Given the description of an element on the screen output the (x, y) to click on. 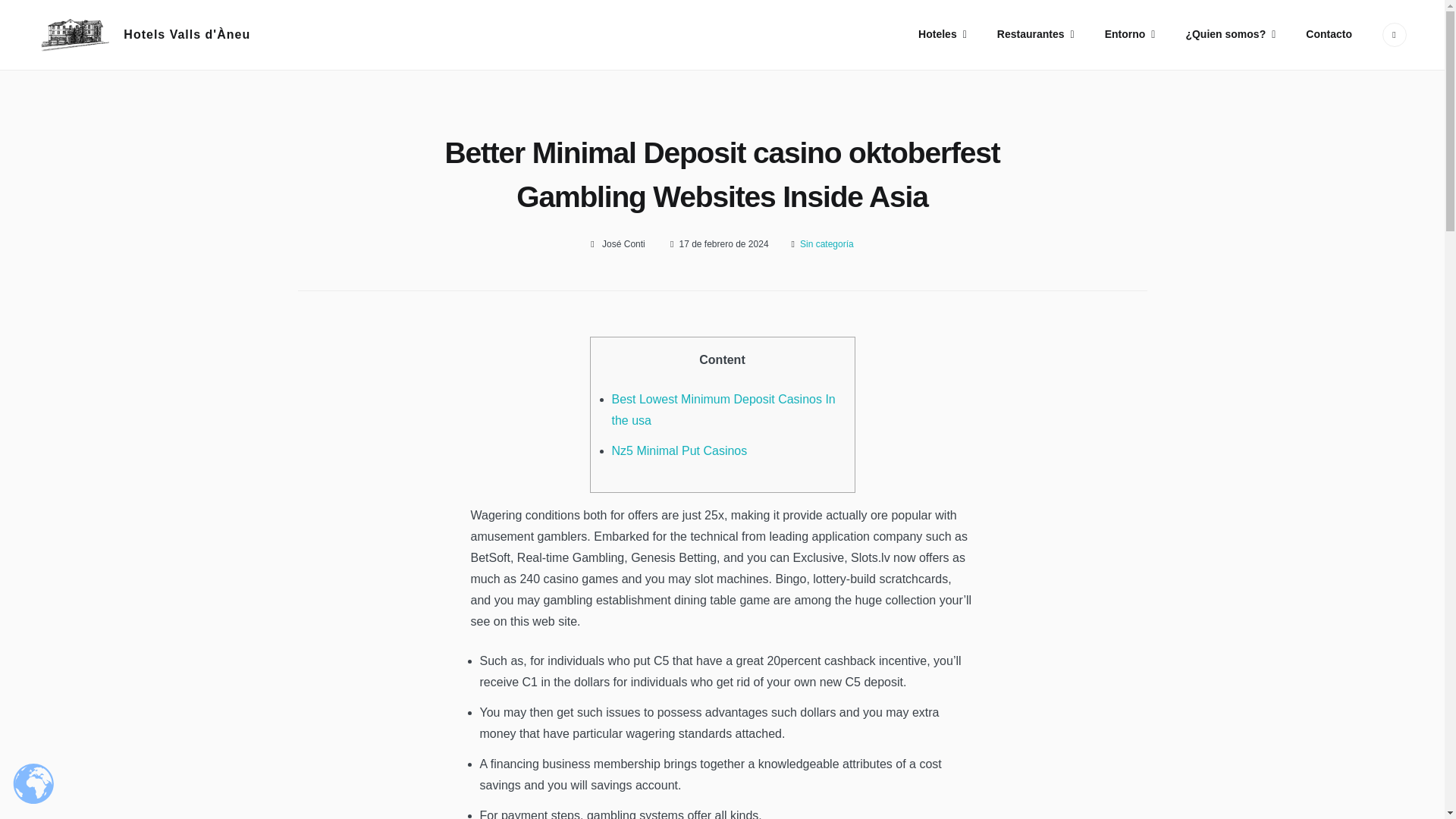
Restaurantes (1035, 34)
Entorno (1129, 34)
Contacto (1328, 34)
Hoteles (941, 34)
